Given the description of an element on the screen output the (x, y) to click on. 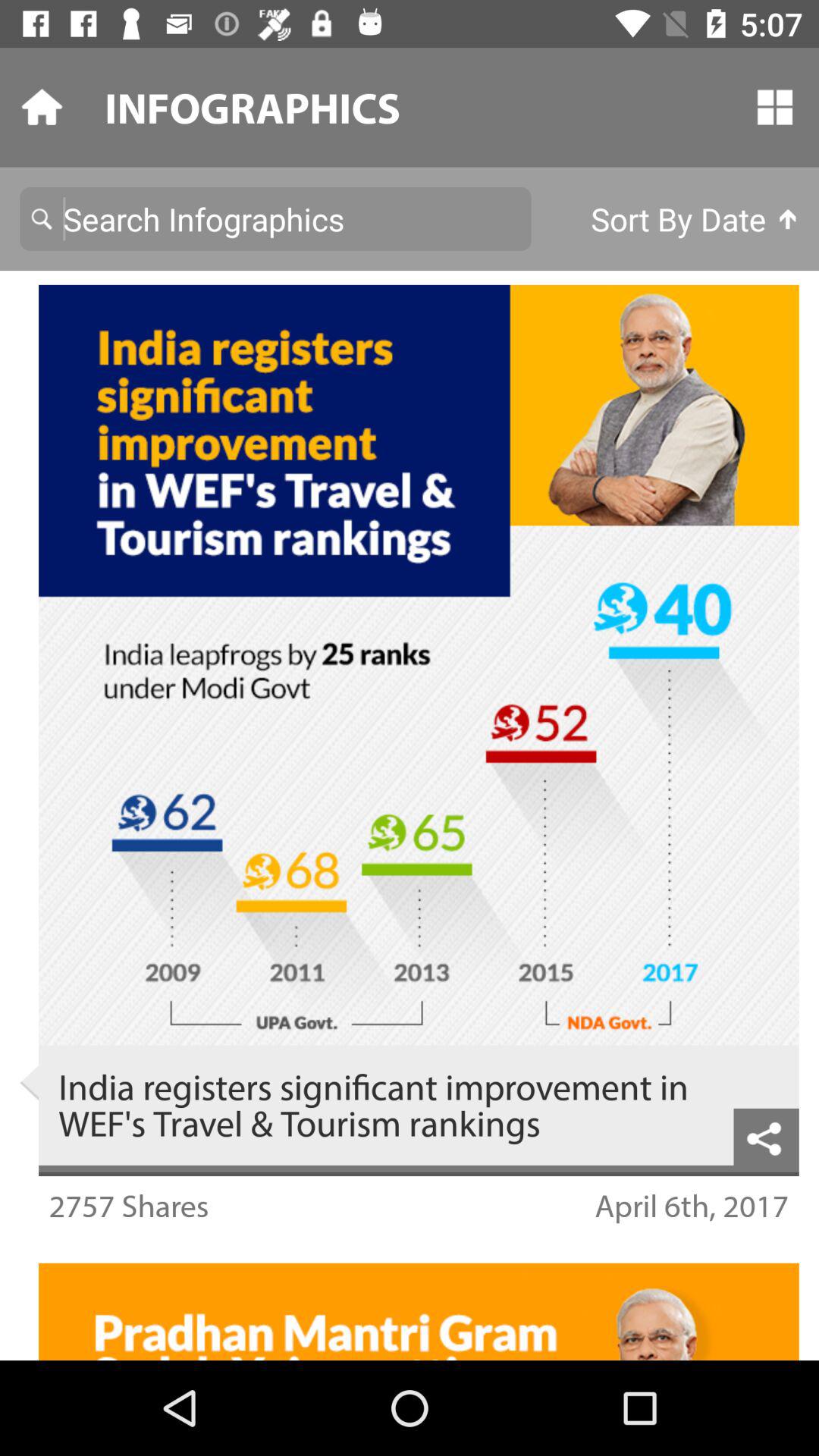
toggle a search bar (275, 218)
